Given the description of an element on the screen output the (x, y) to click on. 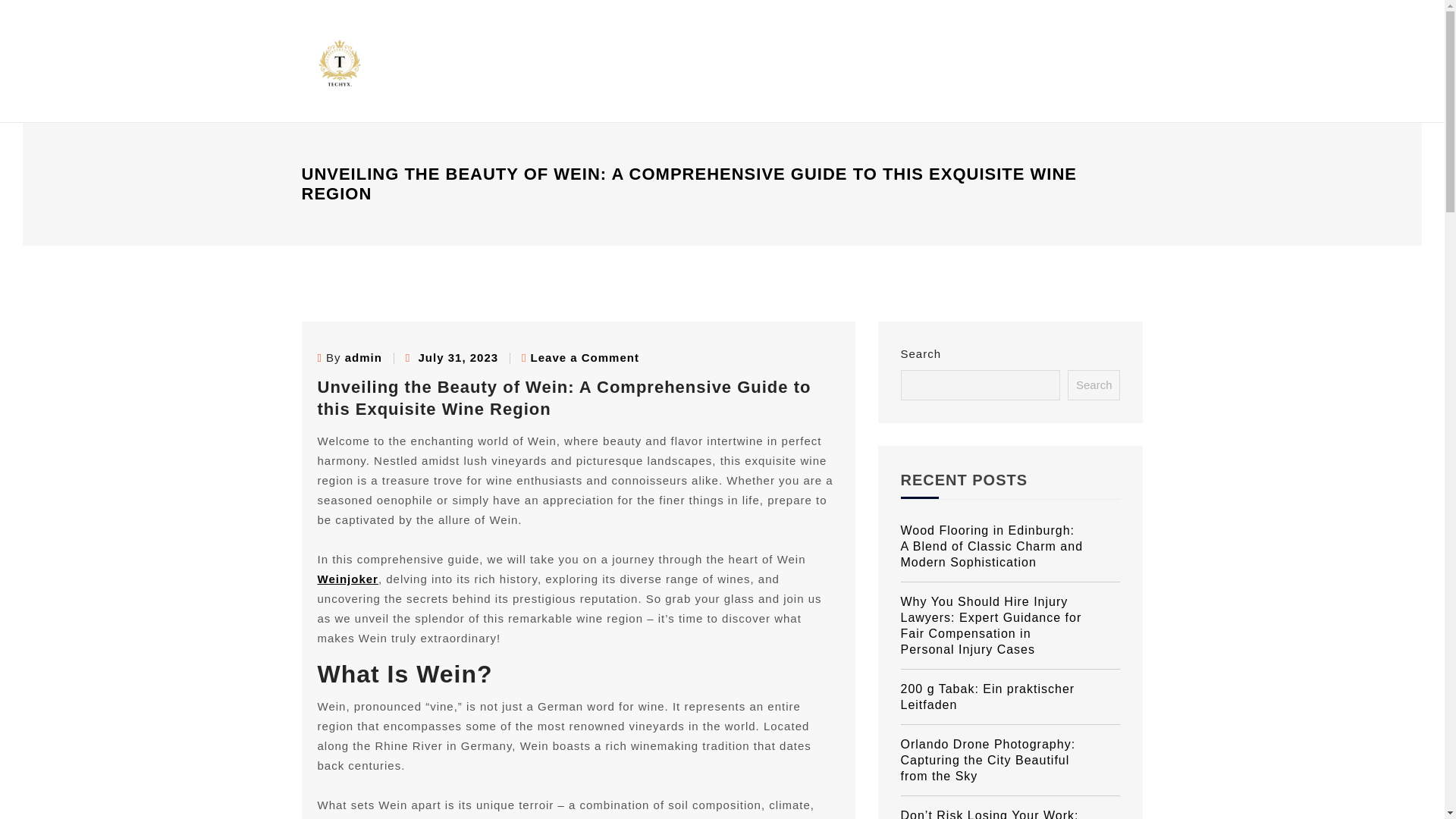
200 g Tabak: Ein praktischer Leitfaden (1011, 696)
Weinjoker (347, 578)
Search (1094, 385)
July 31, 2023 (459, 357)
admin (363, 357)
